Given the description of an element on the screen output the (x, y) to click on. 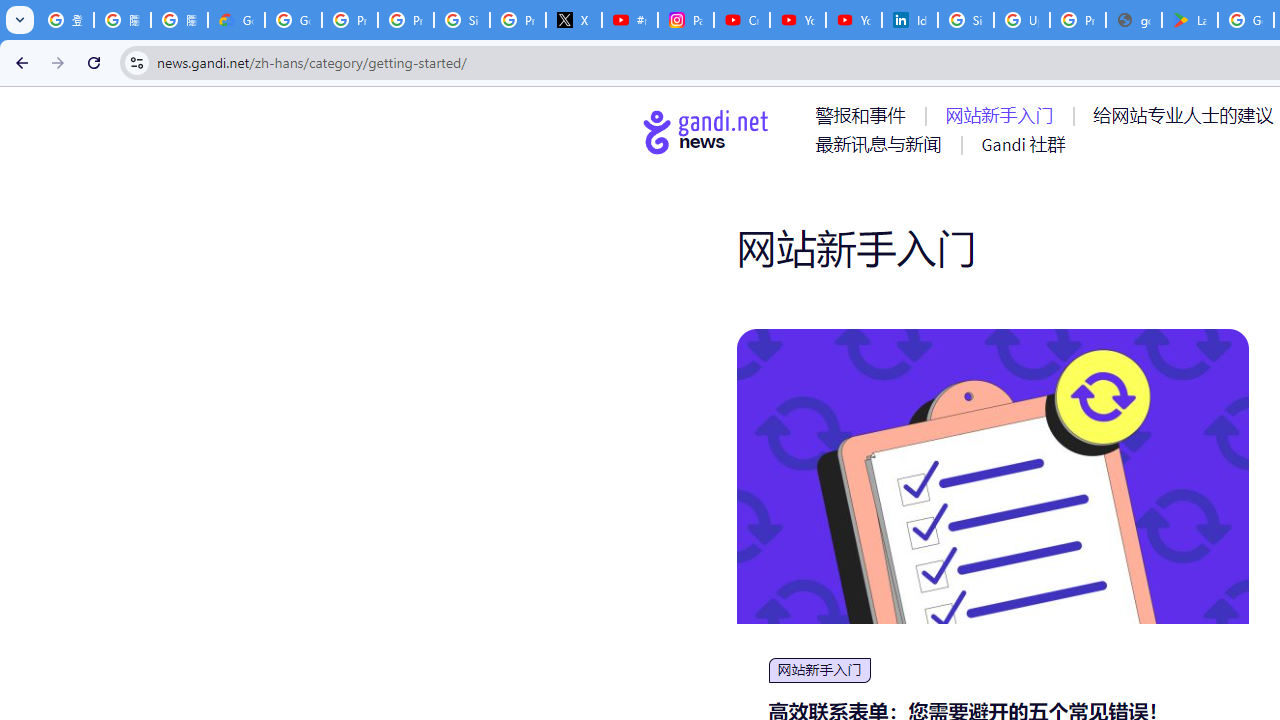
#nbabasketballhighlights - YouTube (629, 20)
Sign in - Google Accounts (461, 20)
YouTube Culture & Trends - YouTube Top 10, 2021 (853, 20)
Last Shelter: Survival - Apps on Google Play (1190, 20)
Go to home (706, 131)
AutomationID: menu-item-77767 (1022, 143)
